Given the description of an element on the screen output the (x, y) to click on. 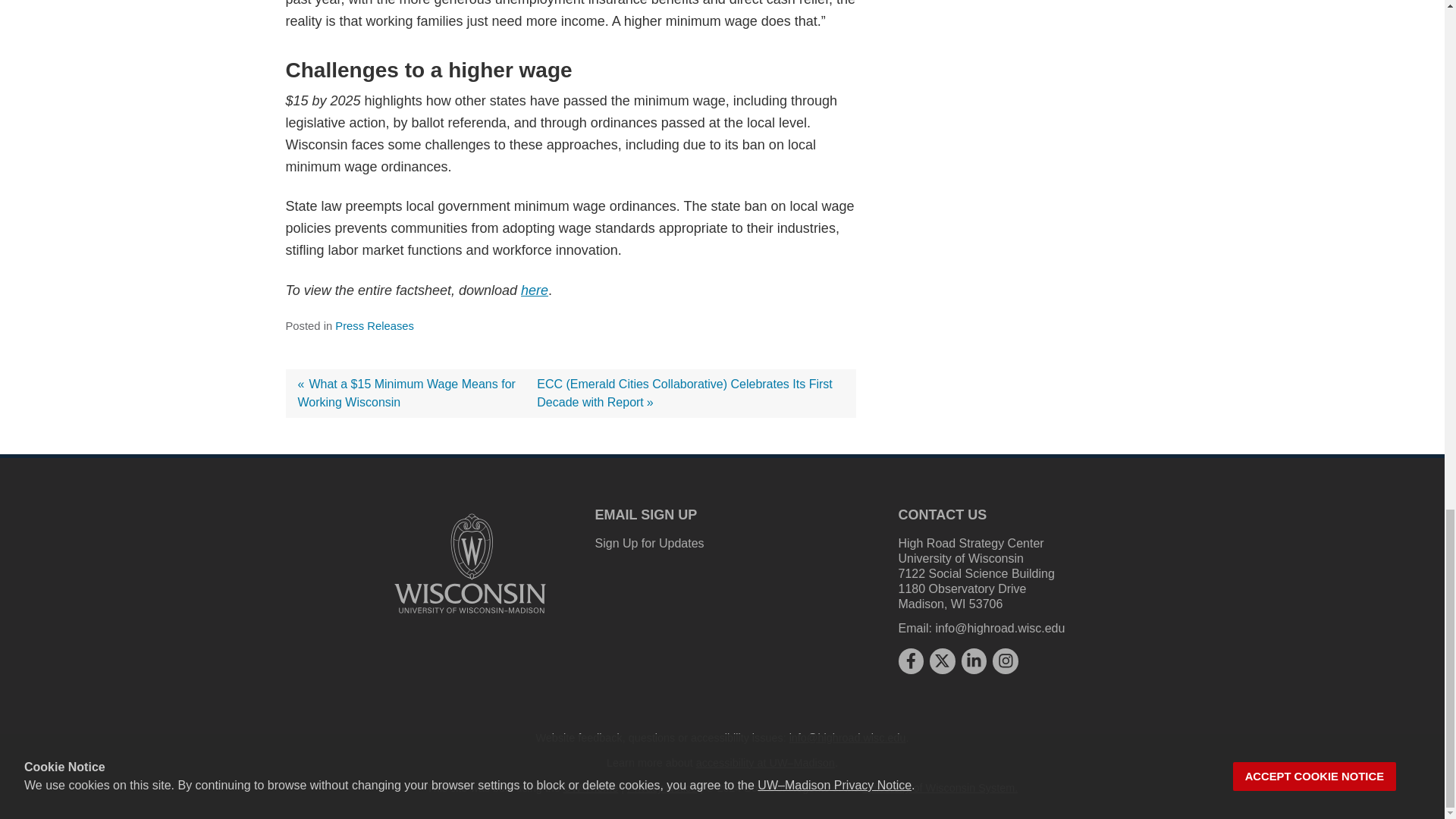
x twitter (941, 660)
University logo that links to main university website (470, 562)
Press Releases (373, 326)
here (534, 290)
linkedin (973, 660)
facebook (910, 660)
instagram (1005, 660)
